Given the description of an element on the screen output the (x, y) to click on. 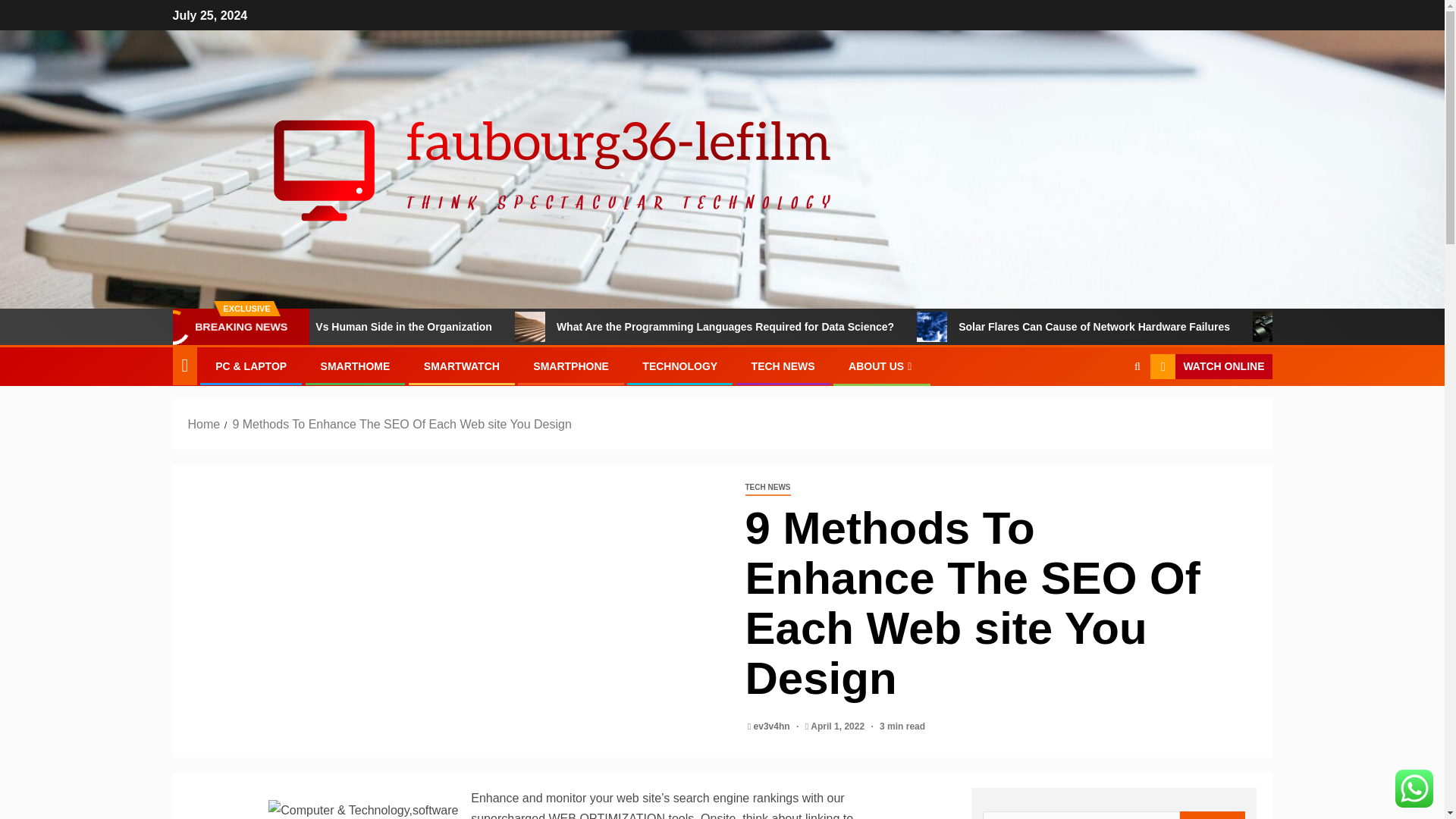
TECHNOLOGY (679, 366)
Search (1212, 815)
Solar Flares Can Cause of Network Hardware Failures (1177, 327)
Search (1107, 412)
Home (204, 423)
ev3v4hn (773, 726)
9 Methods To Enhance The SEO Of Each Web site You Design (400, 423)
SMARTHOME (355, 366)
TECH NEWS (783, 366)
SMARTPHONE (570, 366)
ABOUT US (881, 366)
WATCH ONLINE (1210, 366)
Technology Vs Human Side in the Organization (458, 327)
Solar Flares Can Cause of Network Hardware Failures (996, 327)
